Given the description of an element on the screen output the (x, y) to click on. 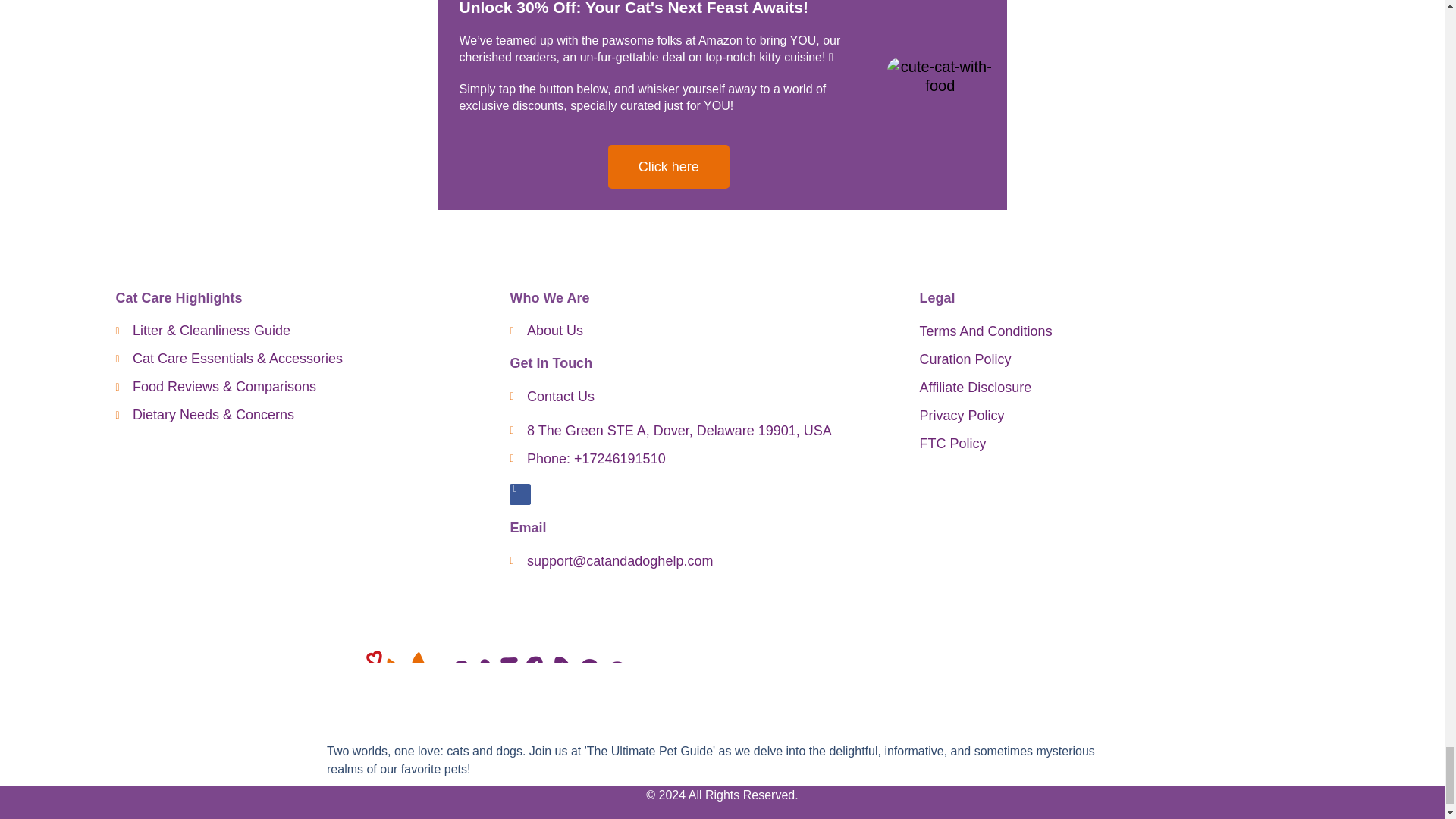
About Us (706, 330)
Click here (668, 166)
Contact Us (706, 396)
